Given the description of an element on the screen output the (x, y) to click on. 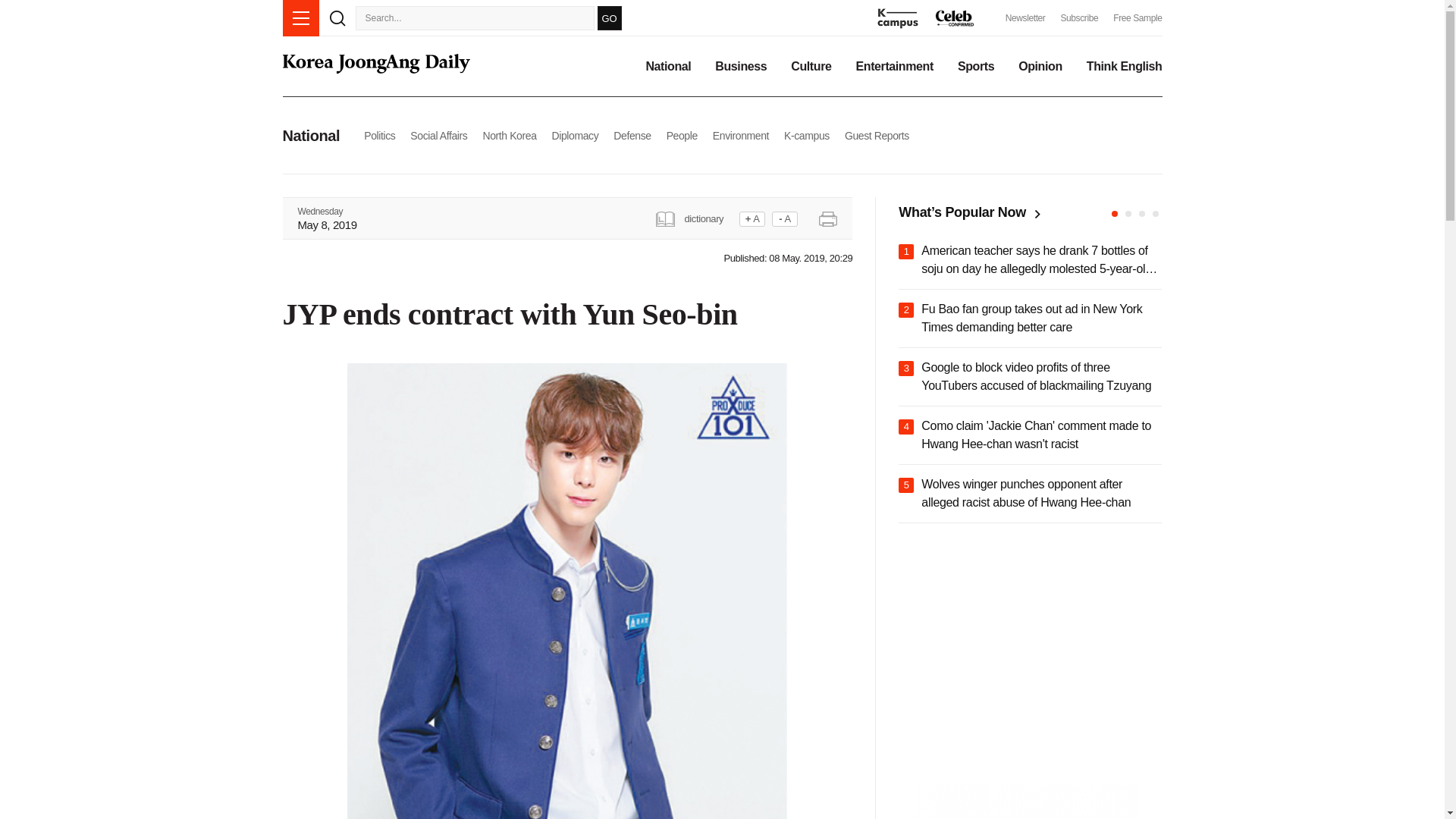
Social Affairs (438, 135)
Newsletter (1025, 18)
Entertainment (894, 66)
Sports (976, 66)
National (667, 66)
GO (608, 17)
Defense (631, 135)
Politics (379, 135)
North Korea (508, 135)
Environment (740, 135)
People (681, 135)
Diplomacy (574, 135)
Think English (1123, 66)
Culture (810, 66)
K-campus (806, 135)
